Given the description of an element on the screen output the (x, y) to click on. 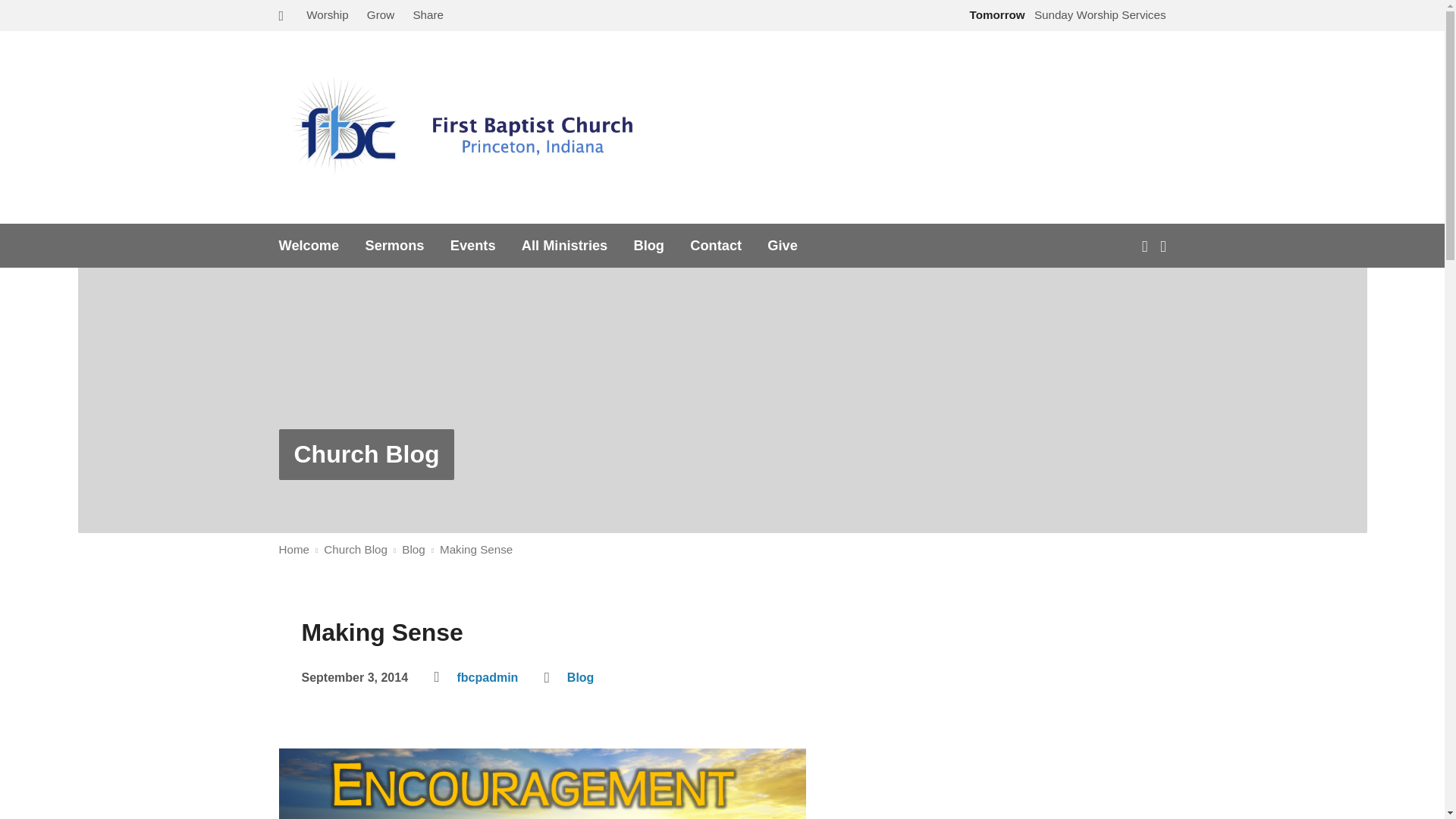
Blog (648, 245)
Grow (380, 14)
Church Blog (366, 453)
Events (472, 245)
Share (428, 14)
Welcome (309, 245)
Tomorrow Sunday Worship Services (1064, 14)
Sunday Worship Services (1064, 14)
Worship (326, 14)
All Ministries (564, 245)
Contact (715, 245)
Sermons (394, 245)
Give (782, 245)
